Given the description of an element on the screen output the (x, y) to click on. 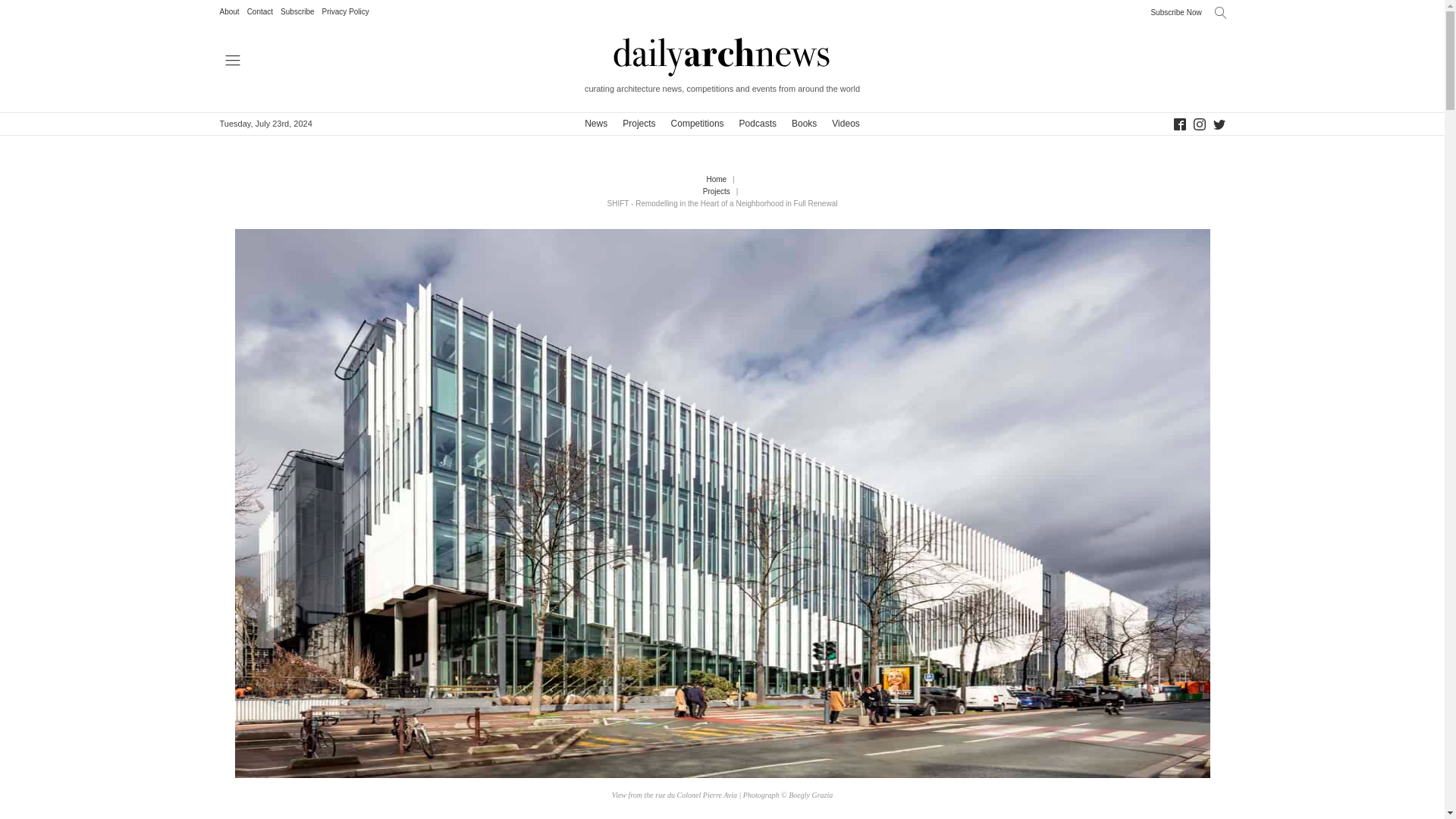
Videos (845, 124)
News (595, 124)
Projects (638, 124)
Contact (260, 11)
Competitions (697, 124)
Privacy Policy (345, 11)
Books (804, 124)
Search (21, 10)
About (229, 11)
Subscribe Now (1175, 11)
Subscribe (297, 11)
Podcasts (758, 124)
